Given the description of an element on the screen output the (x, y) to click on. 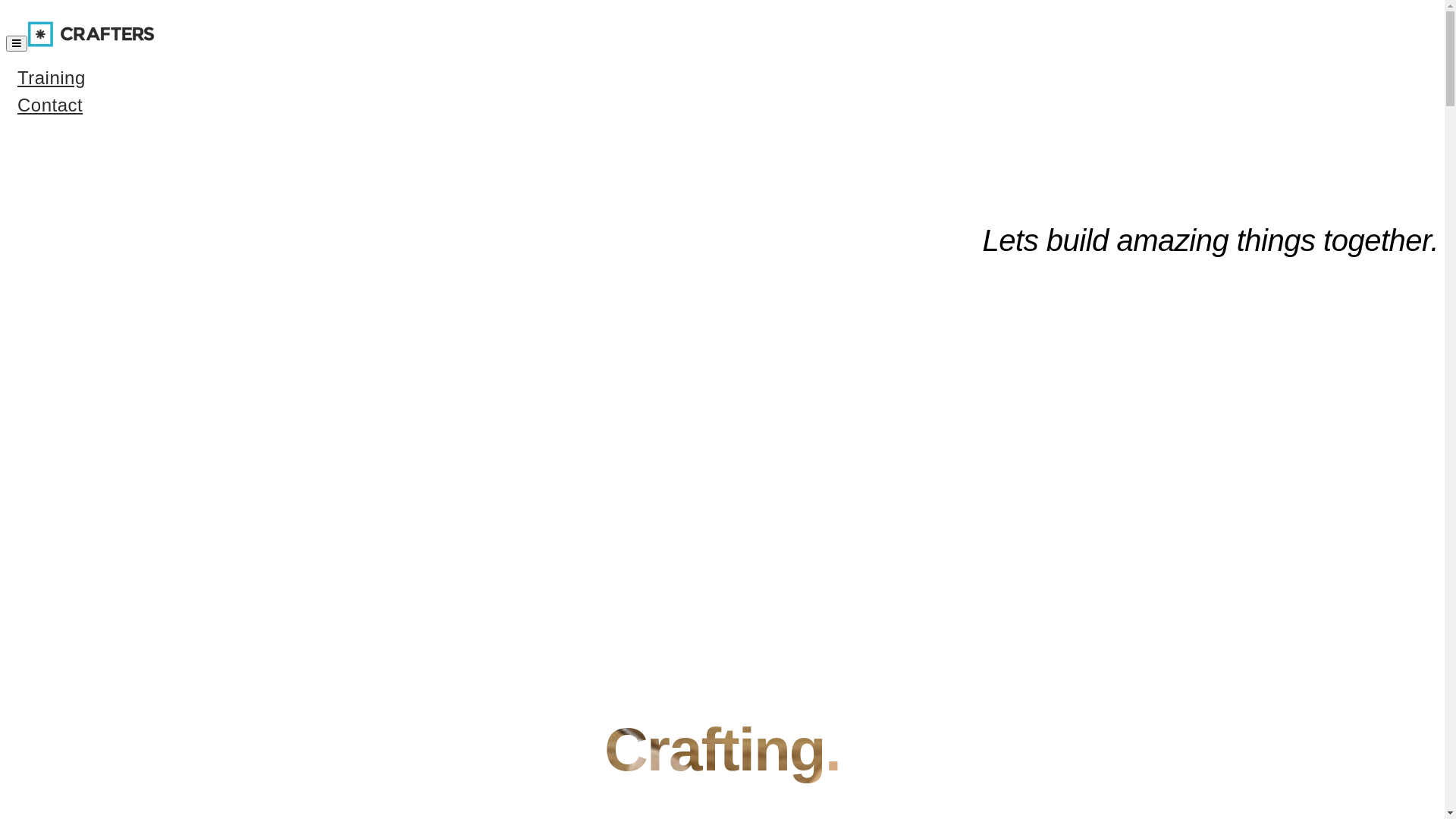
Toggle navigation Element type: text (16, 43)
Training Element type: text (51, 77)
Bring your idea. Element type: text (443, 435)
Contact Element type: text (50, 104)
